Given the description of an element on the screen output the (x, y) to click on. 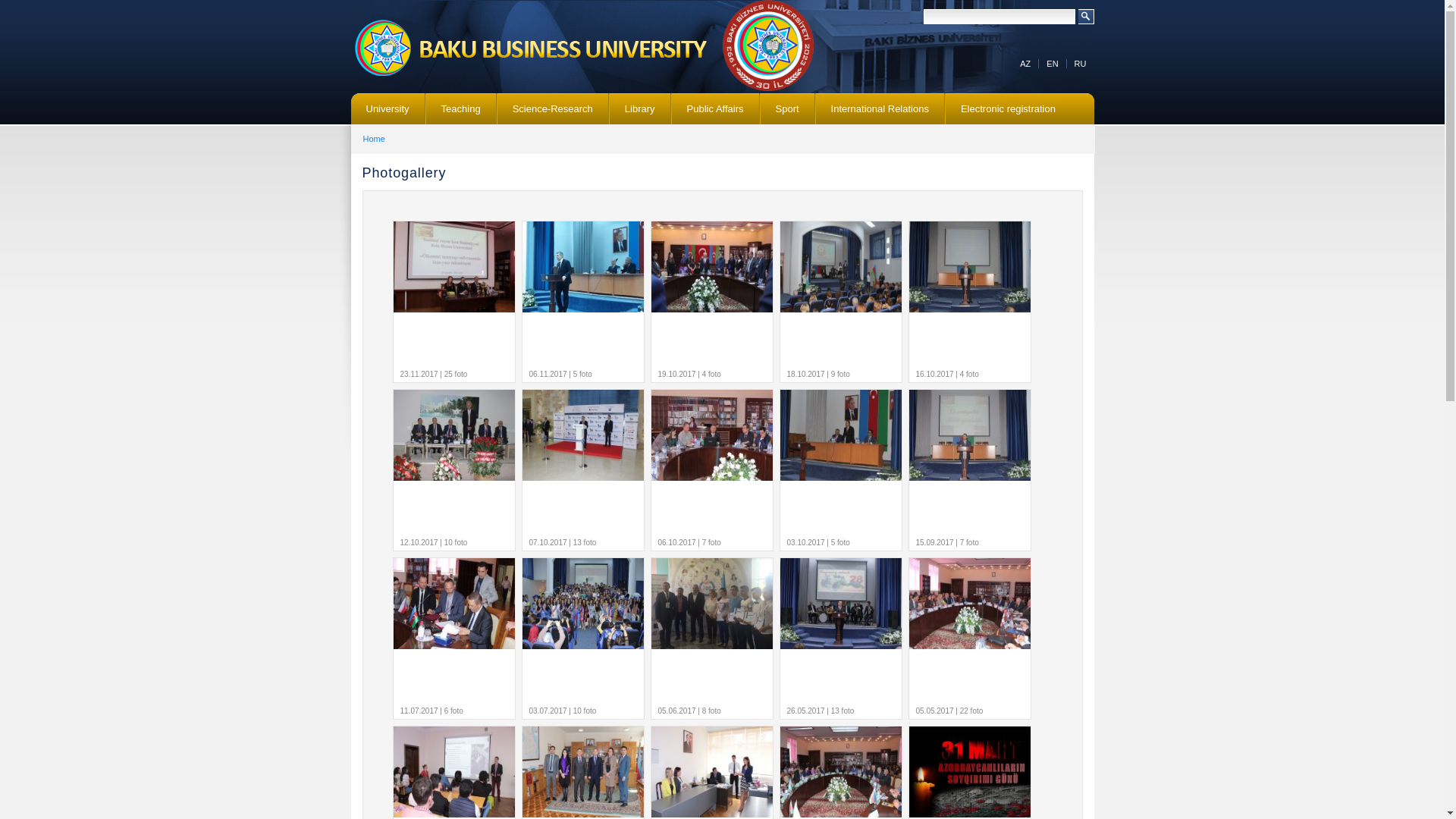
Sport Element type: text (787, 108)
RU Element type: text (1080, 63)
EN Element type: text (1051, 63)
Home Element type: text (373, 138)
Electronic registration Element type: text (1007, 108)
AZ Element type: text (1024, 63)
